Given the description of an element on the screen output the (x, y) to click on. 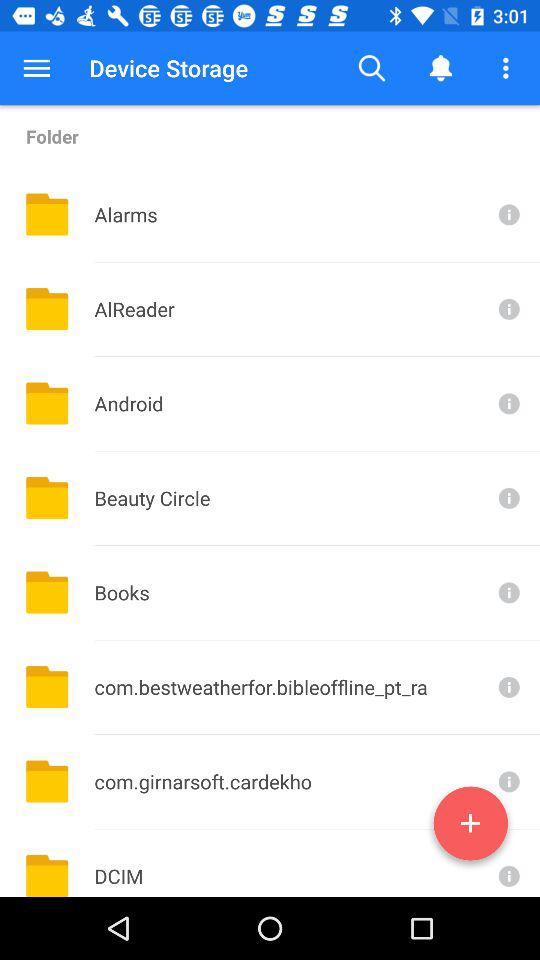
button for folder information (507, 403)
